Given the description of an element on the screen output the (x, y) to click on. 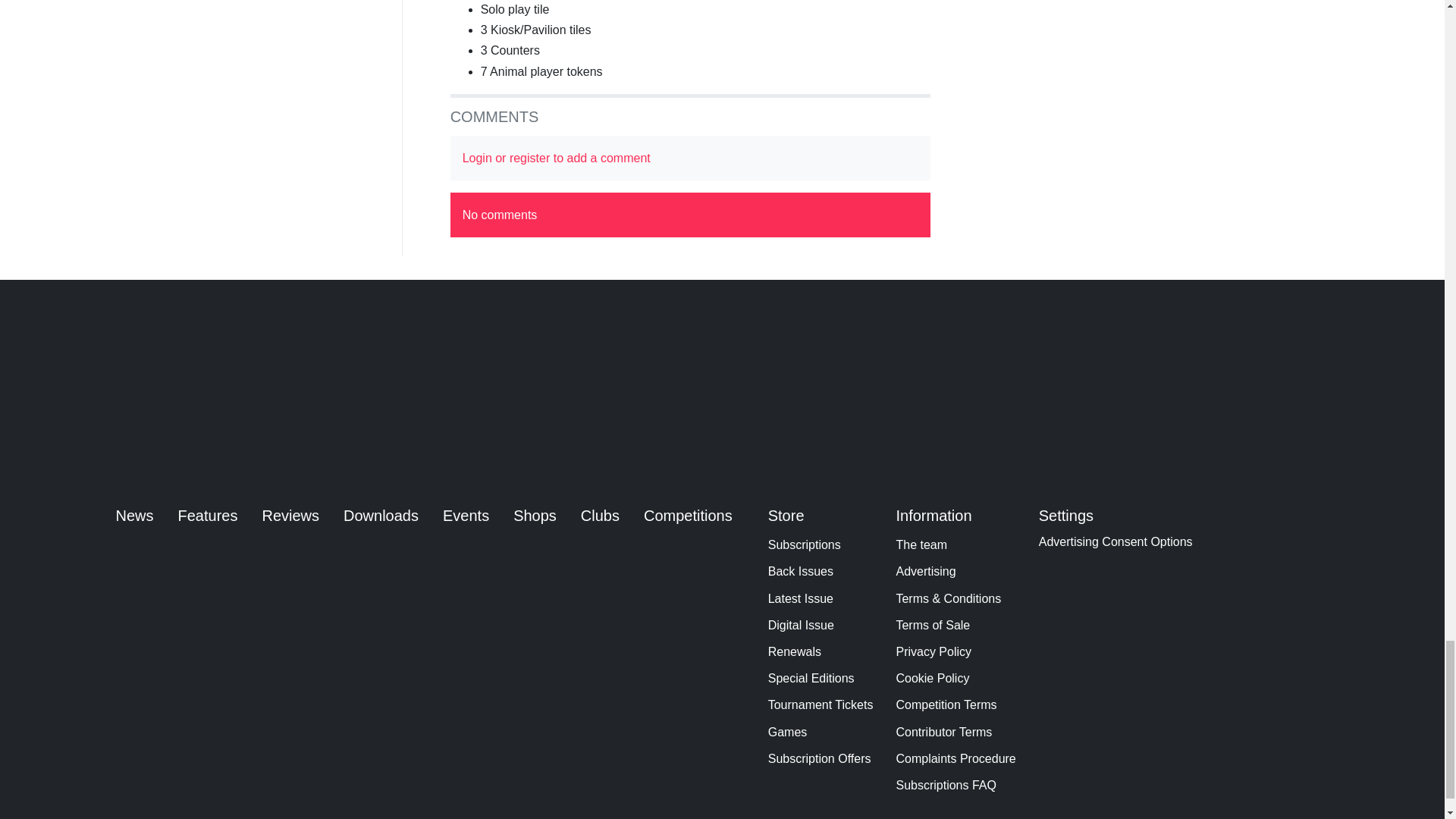
View your Advertising Consent options for this website (1115, 541)
